Given the description of an element on the screen output the (x, y) to click on. 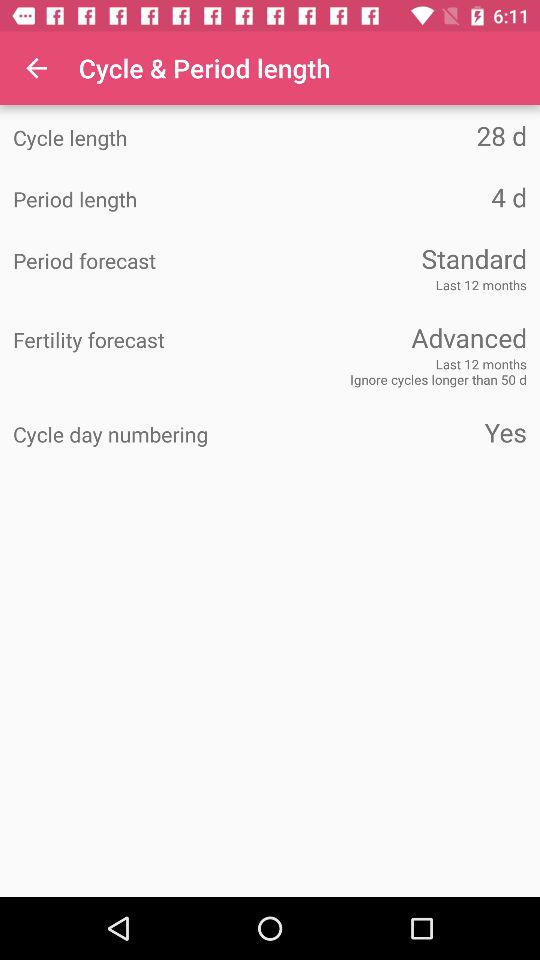
turn off item below the cycle & period length (398, 135)
